Given the description of an element on the screen output the (x, y) to click on. 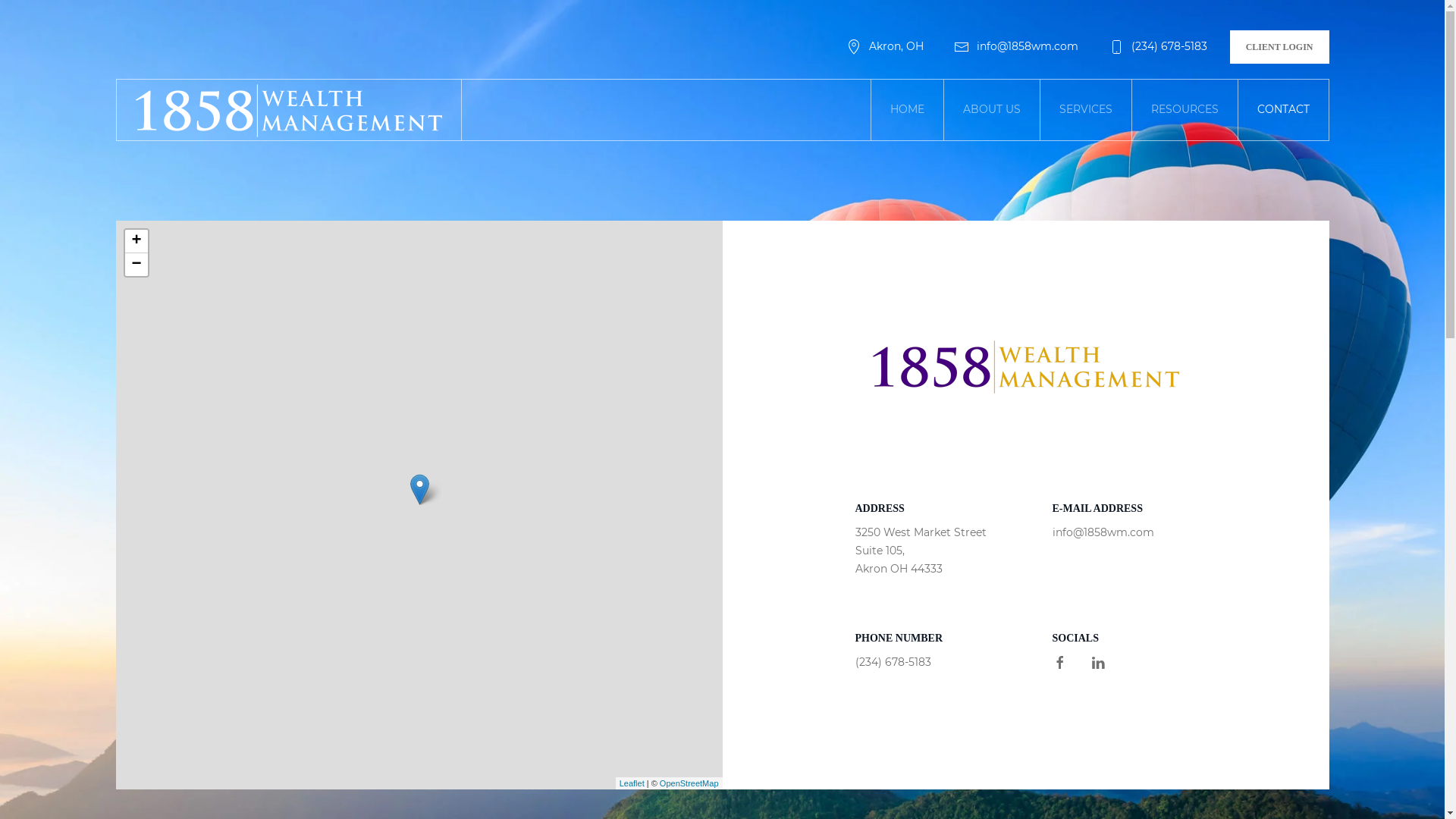
(234) 678-5183 Element type: text (1157, 46)
OpenStreetMap Element type: text (688, 782)
info@1858wm.com Element type: text (1015, 46)
CLIENT LOGIN Element type: text (1279, 46)
HOME Element type: text (906, 109)
Leaflet Element type: text (631, 782)
(234) 678-5183 Element type: text (893, 661)
RESOURCES Element type: text (1184, 109)
info@1858wm.com Element type: text (1103, 532)
SERVICES Element type: text (1086, 109)
+ Element type: text (135, 241)
Akron, OH Element type: text (884, 46)
ABOUT US Element type: text (991, 109)
CONTACT Element type: text (1282, 109)
